Given the description of an element on the screen output the (x, y) to click on. 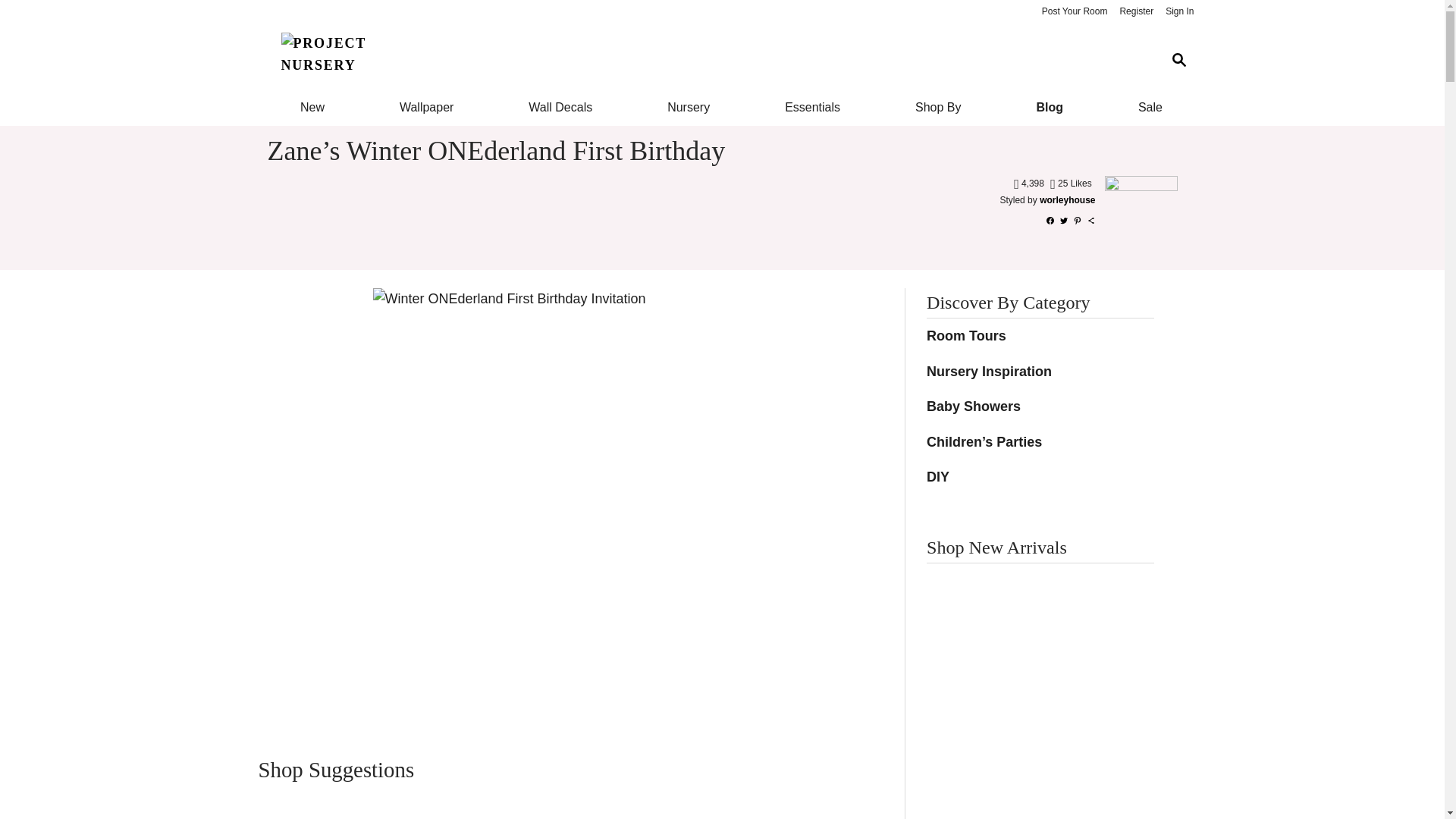
Search (1178, 60)
Post Your Room (1074, 11)
Wall Decals (561, 107)
Sign In (1178, 11)
Nursery (689, 107)
Project Nursery (709, 60)
New (311, 107)
Views (1029, 183)
Register (1135, 11)
Post Your Room (1074, 11)
